Given the description of an element on the screen output the (x, y) to click on. 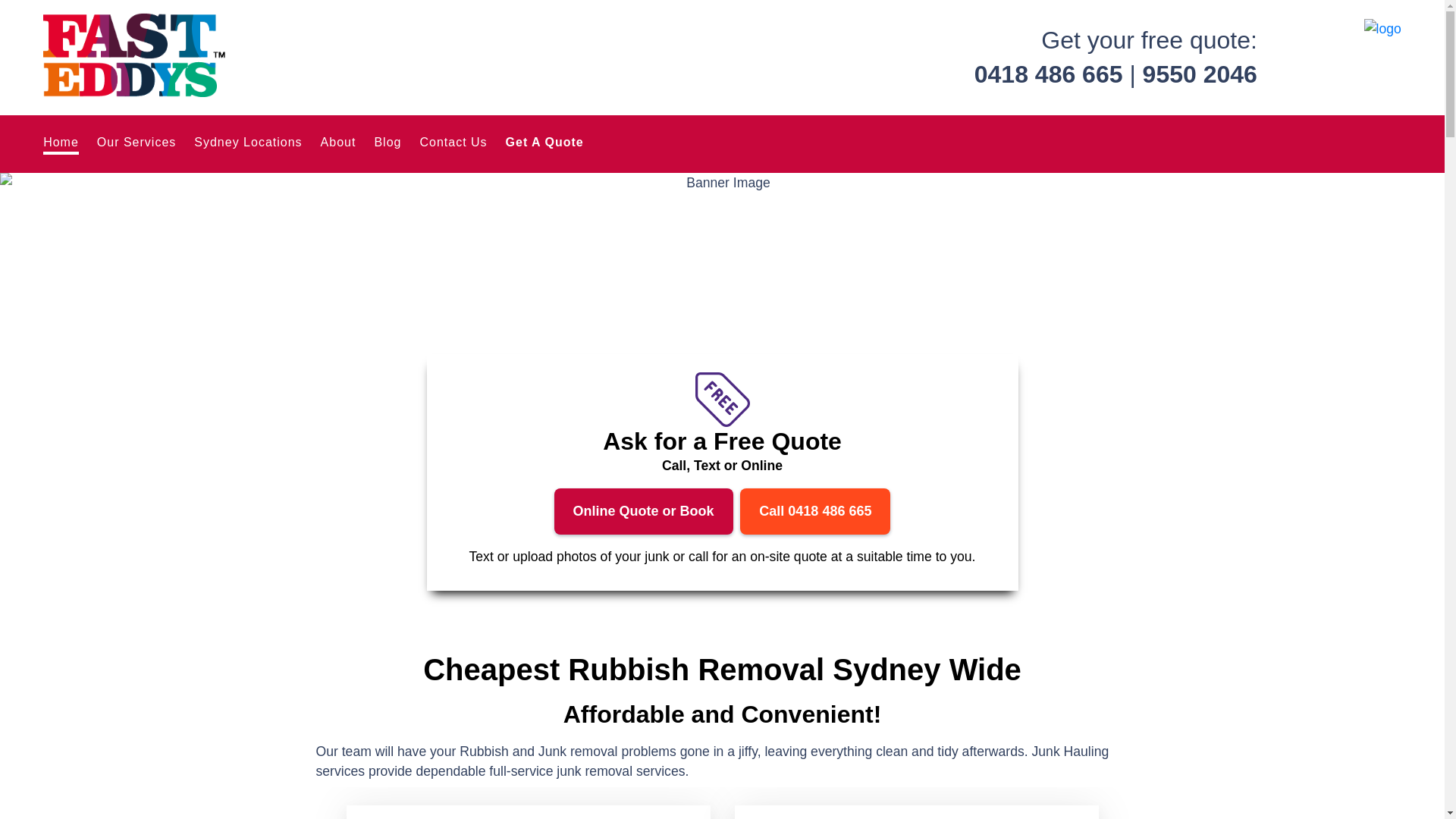
Contact Us Element type: text (452, 142)
Blog Element type: text (387, 142)
Online Quote or Book Element type: text (643, 511)
Get A Quote Element type: text (544, 142)
Call 0418 486 665 Element type: text (815, 511)
Home Element type: text (60, 143)
